Given the description of an element on the screen output the (x, y) to click on. 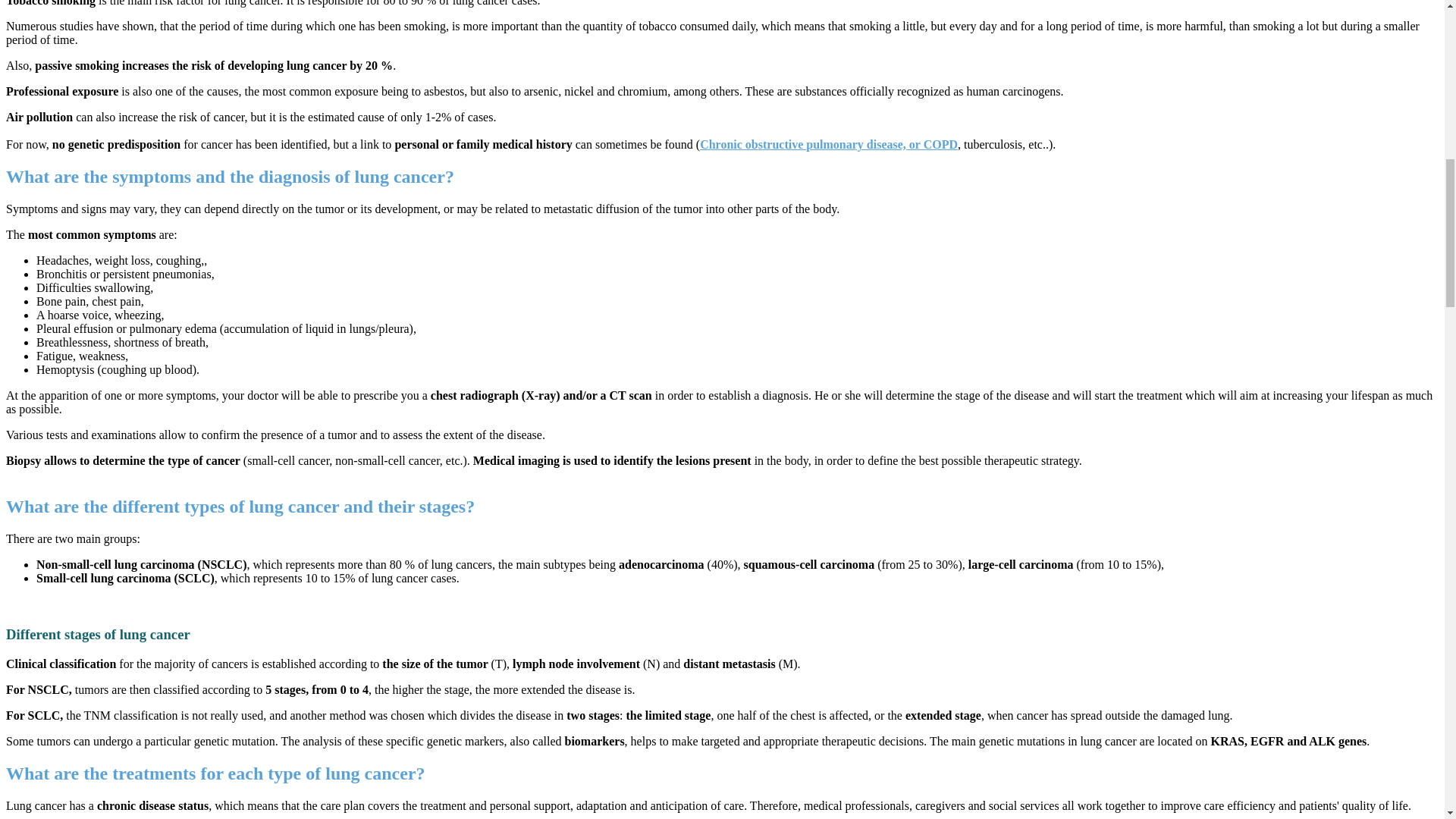
Chronic obstructive pulmonary disease, or COPD (829, 144)
Carenity Fact Sheet (829, 144)
